Given the description of an element on the screen output the (x, y) to click on. 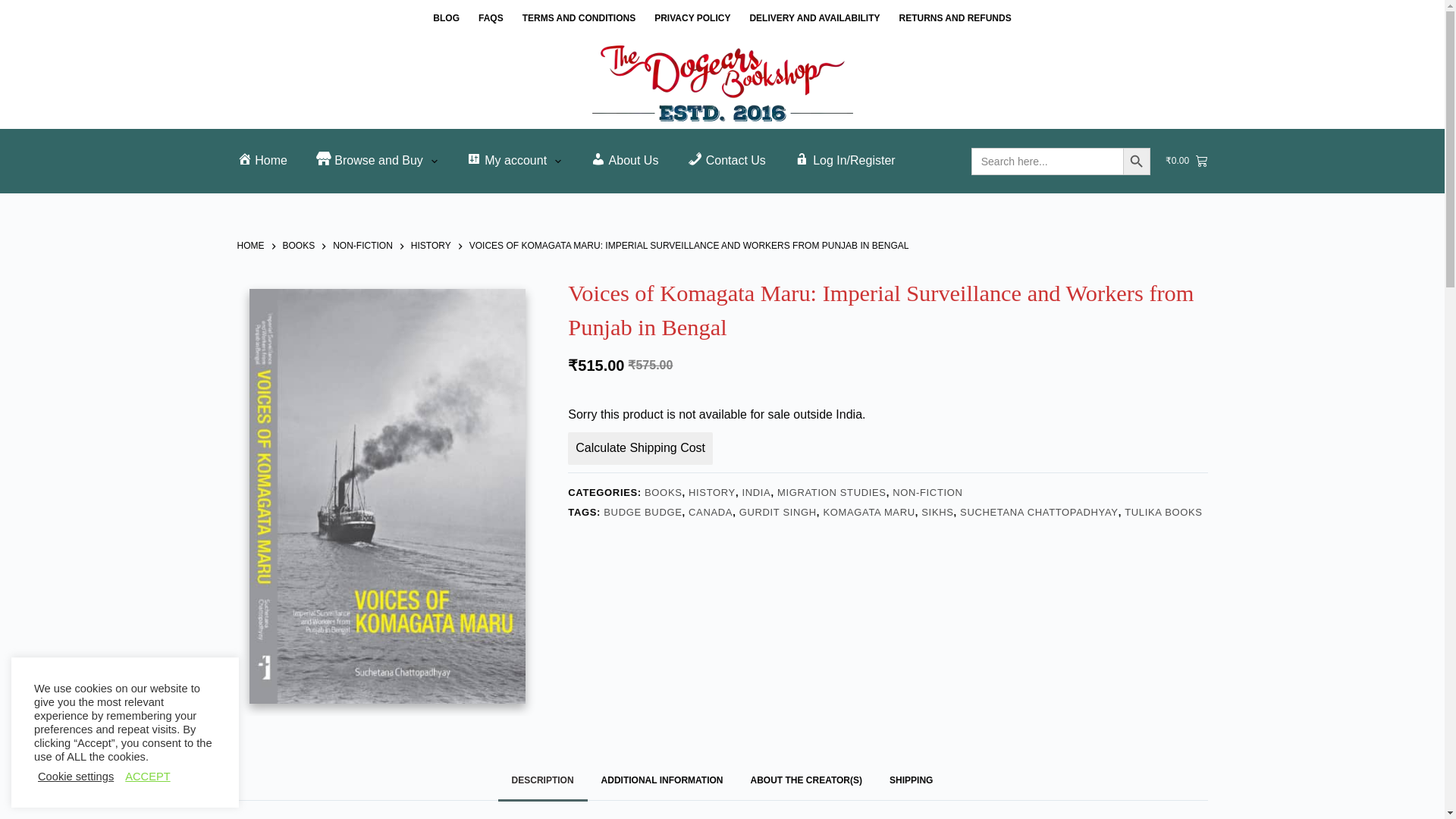
Skip to content (15, 7)
